Given the description of an element on the screen output the (x, y) to click on. 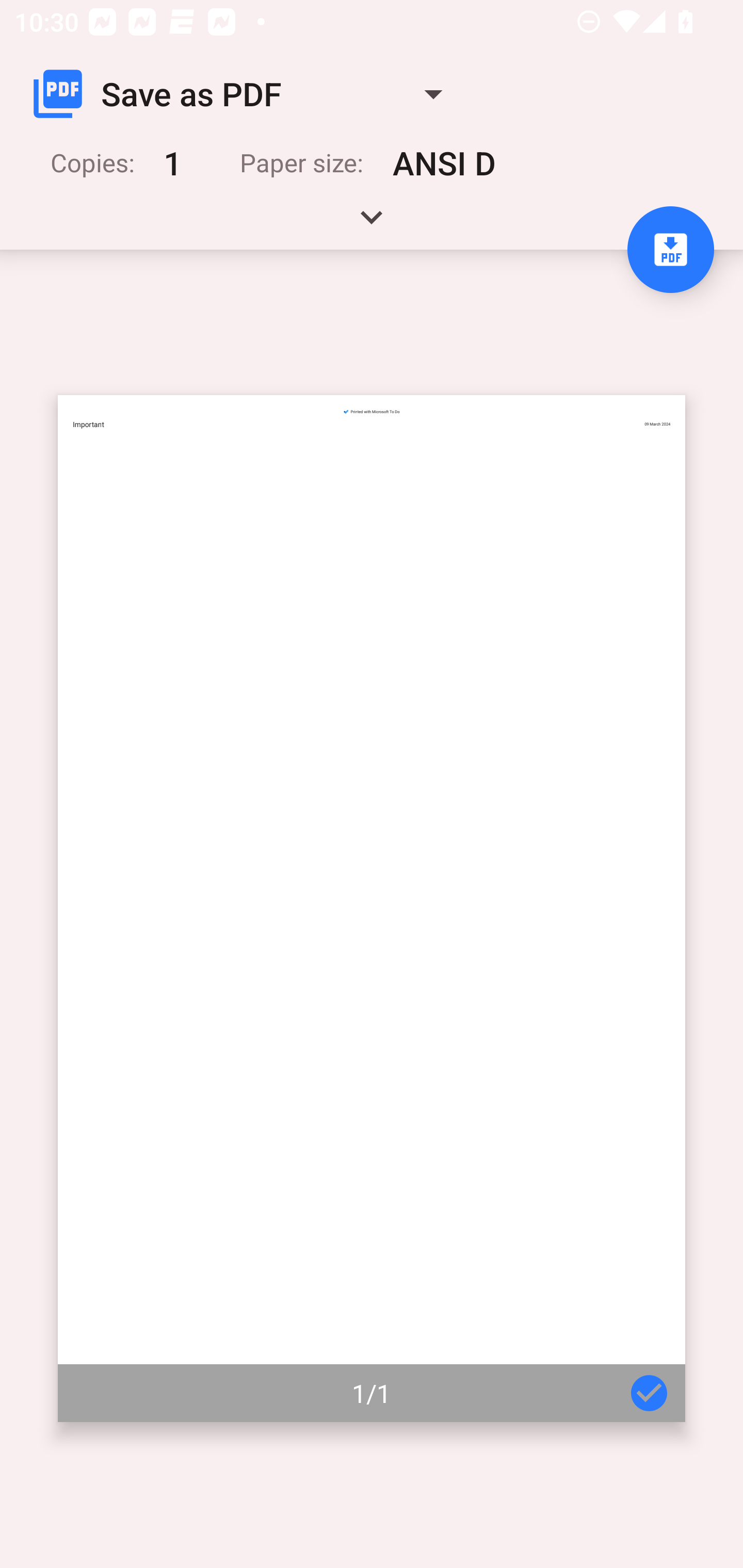
Save as PDF (245, 93)
Expand handle (371, 224)
Save to PDF (670, 249)
Page 1 of 1 1/1 (371, 908)
